Given the description of an element on the screen output the (x, y) to click on. 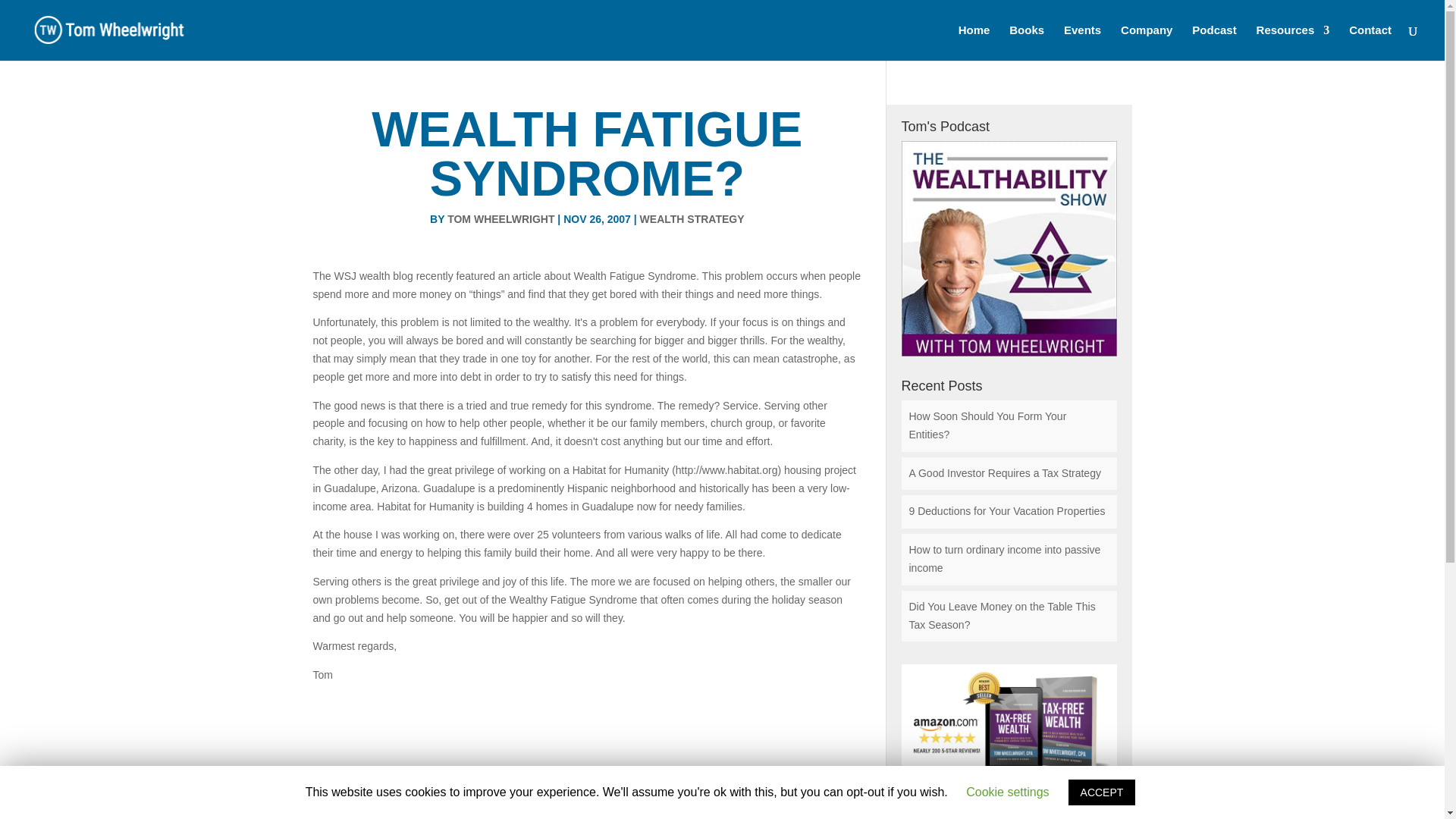
Resources (1293, 42)
Tom's Podcast (1008, 248)
Contact (1370, 42)
TOM WHEELWRIGHT (500, 218)
9 Deductions for Your Vacation Properties (1006, 510)
A Good Investor Requires a Tax Strategy (1004, 472)
How to turn ordinary income into passive income (1004, 558)
Home (974, 42)
Books (1026, 42)
WEALTH STRATEGY (692, 218)
Posts by Tom Wheelwright (500, 218)
Podcast (1214, 42)
Events (1082, 42)
How Soon Should You Form Your Entities? (986, 425)
Did You Leave Money on the Table This Tax Season? (1001, 615)
